Given the description of an element on the screen output the (x, y) to click on. 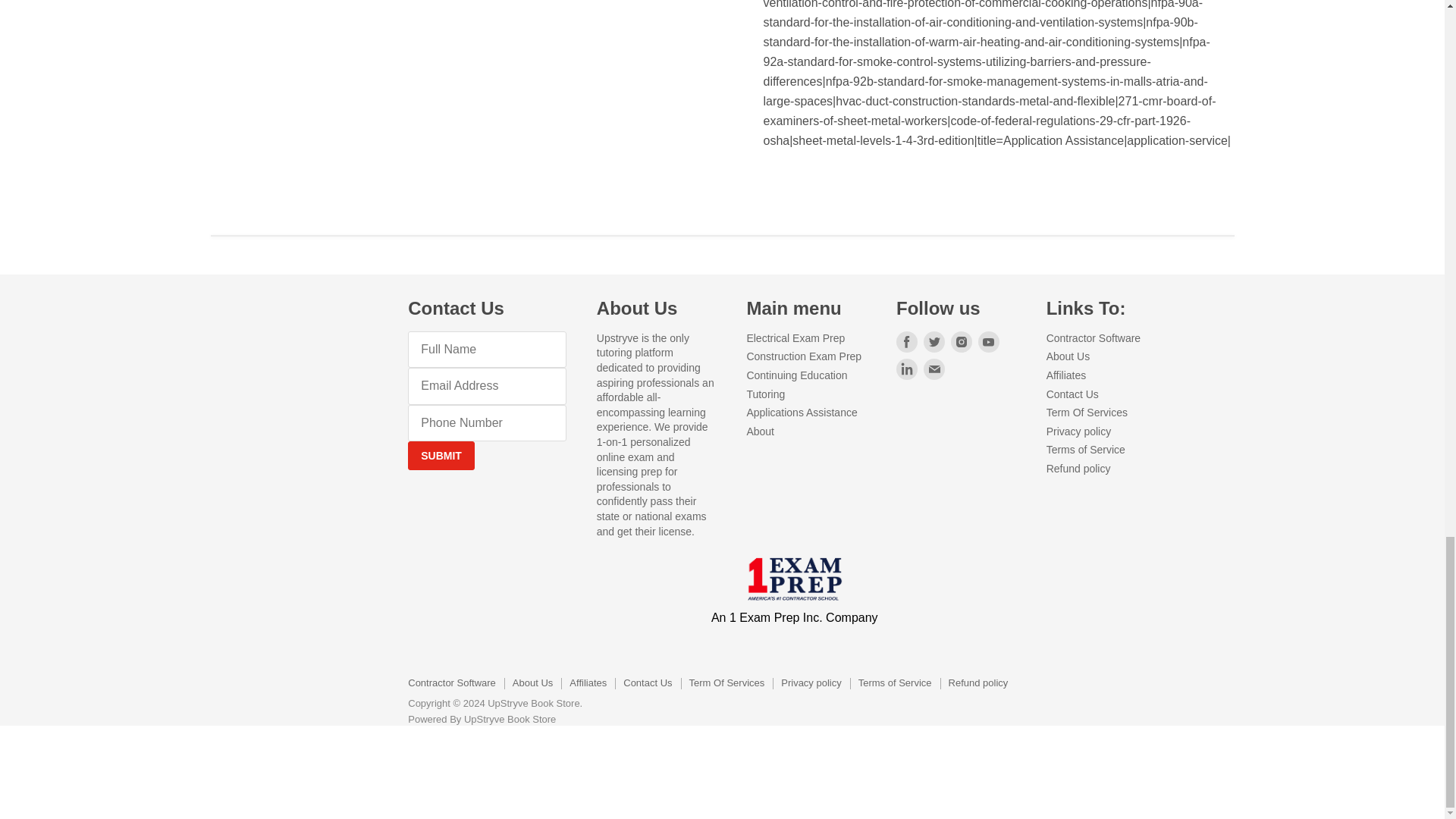
E-mail (933, 369)
Youtube (988, 341)
Instagram (961, 341)
Facebook (906, 341)
Twitter (933, 341)
LinkedIn (906, 369)
